Given the description of an element on the screen output the (x, y) to click on. 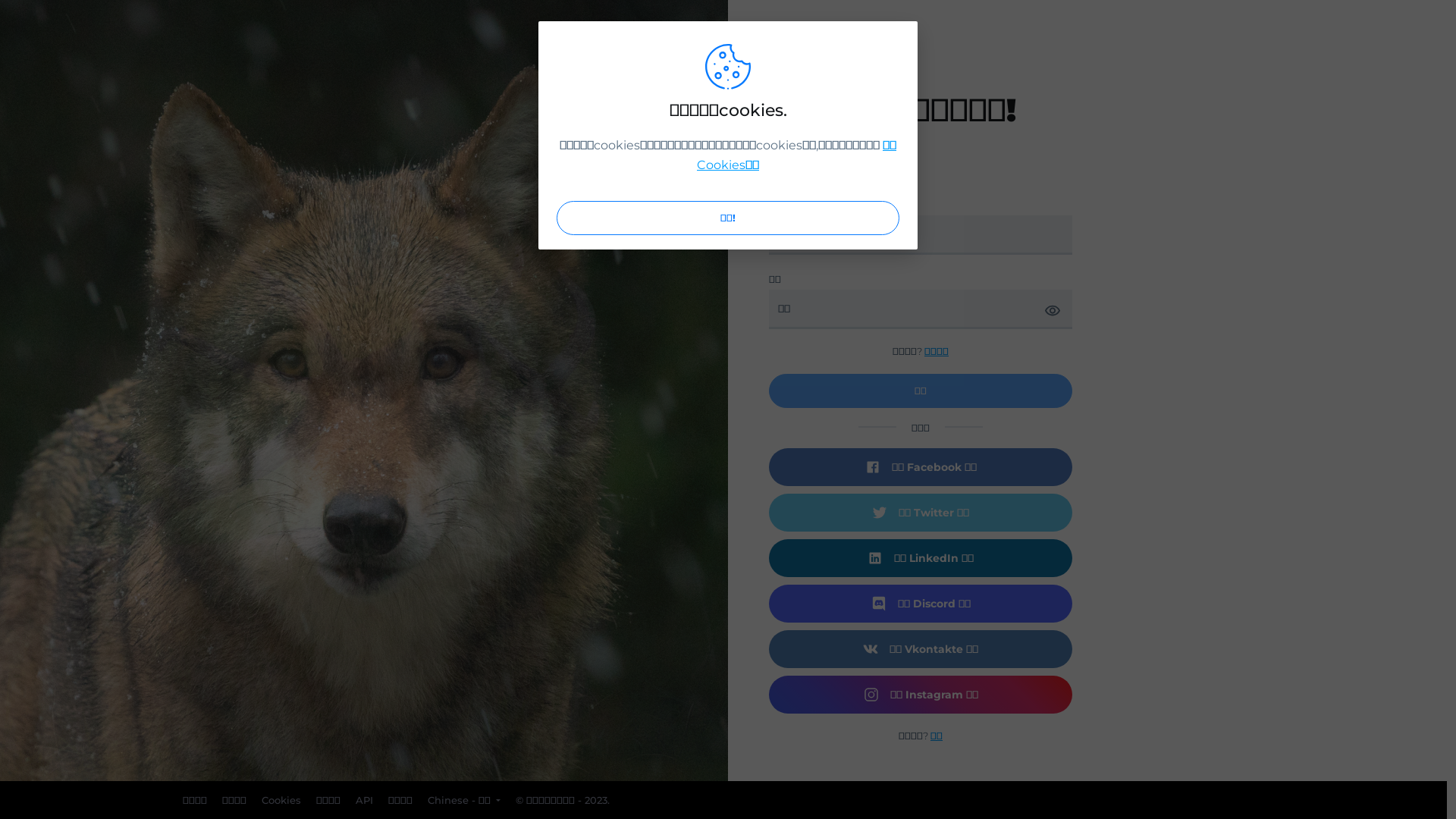
API Element type: text (364, 799)
Cookies Element type: text (281, 799)
